Given the description of an element on the screen output the (x, y) to click on. 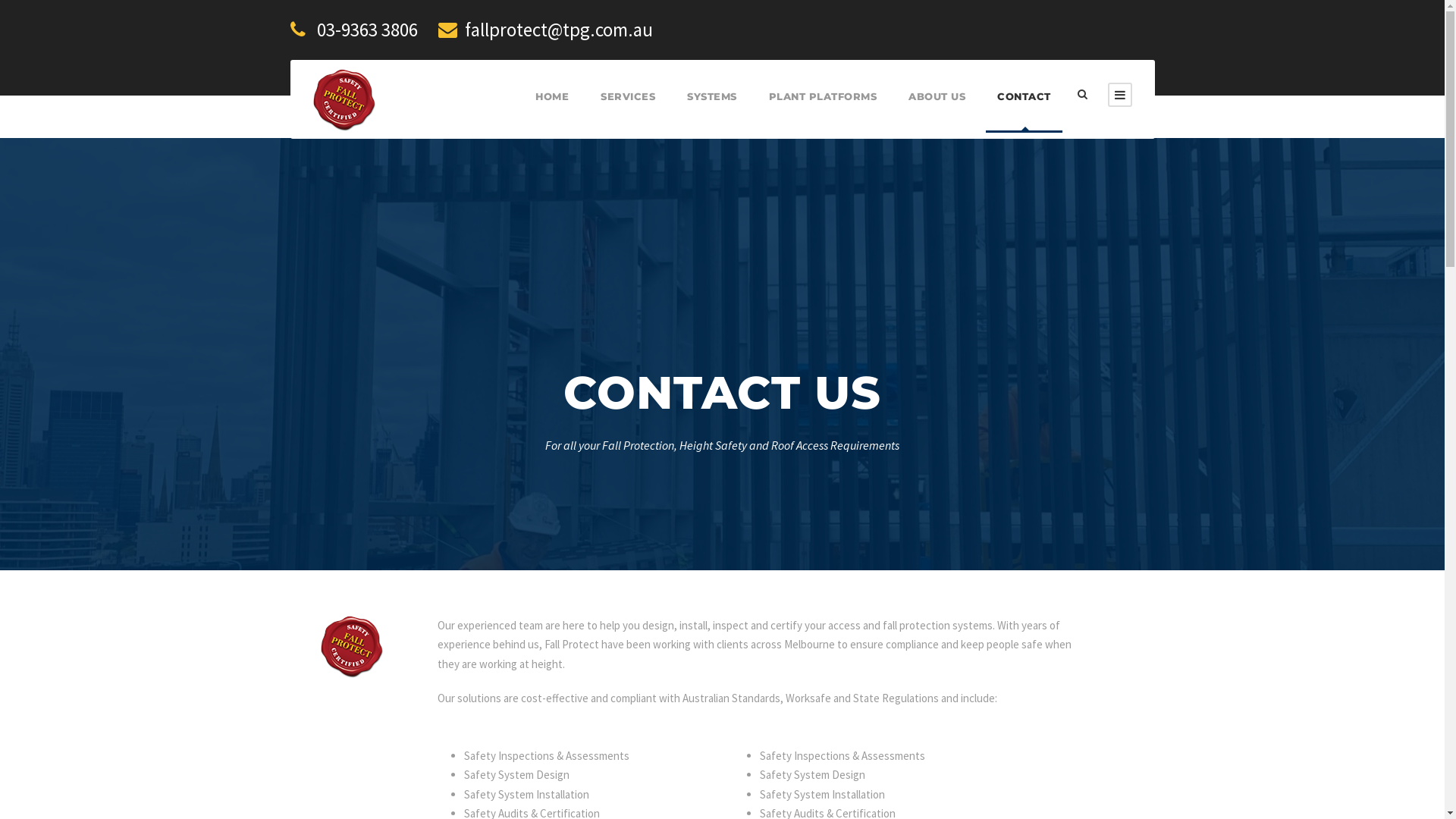
HOME Element type: text (551, 109)
SERVICES Element type: text (627, 109)
CONTACT Element type: text (1024, 109)
ABOUT US Element type: text (936, 109)
PLANT PLATFORMS Element type: text (822, 109)
SYSTEMS Element type: text (712, 109)
